Given the description of an element on the screen output the (x, y) to click on. 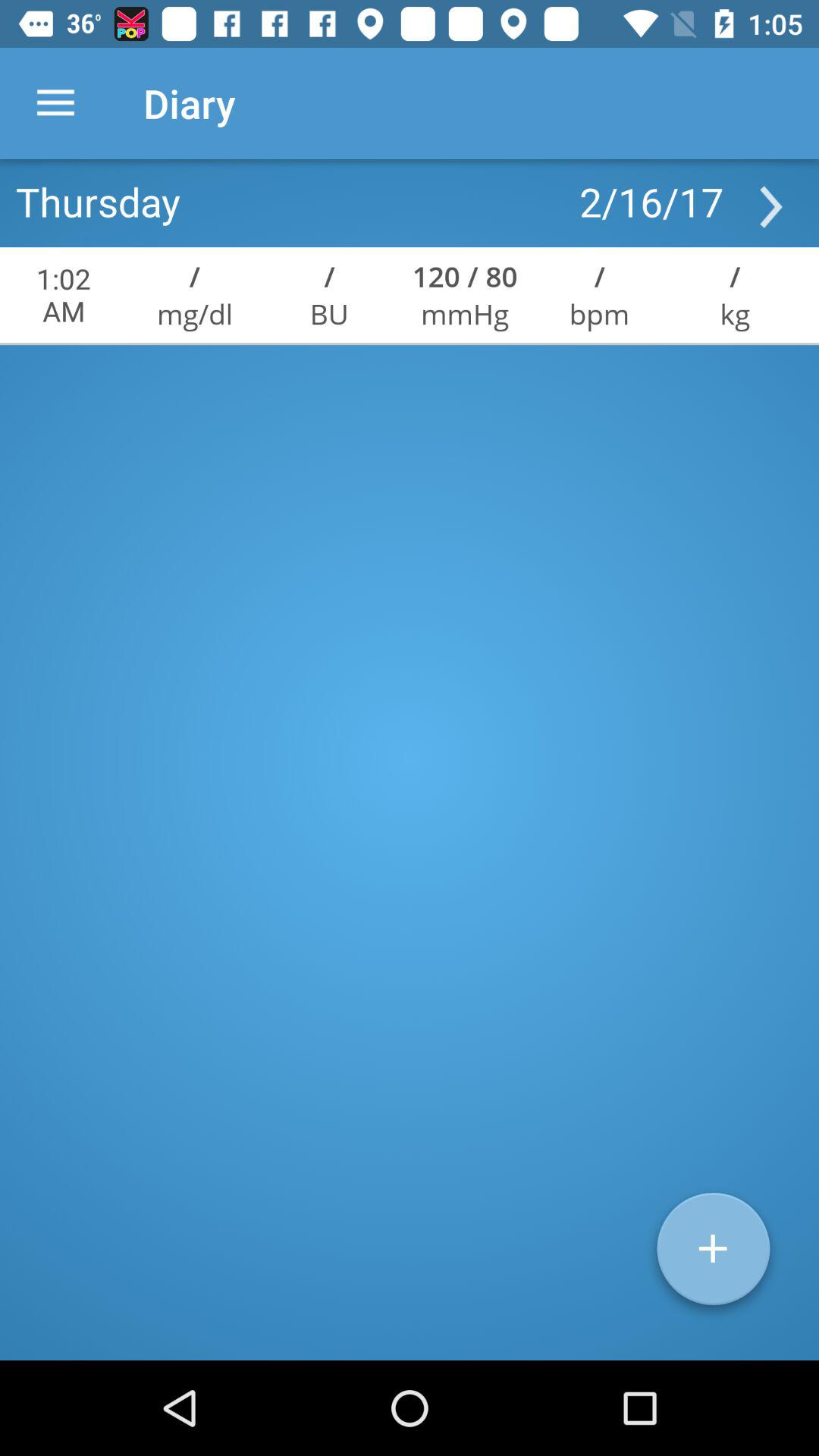
turn on the 2/16/17 (651, 201)
